Given the description of an element on the screen output the (x, y) to click on. 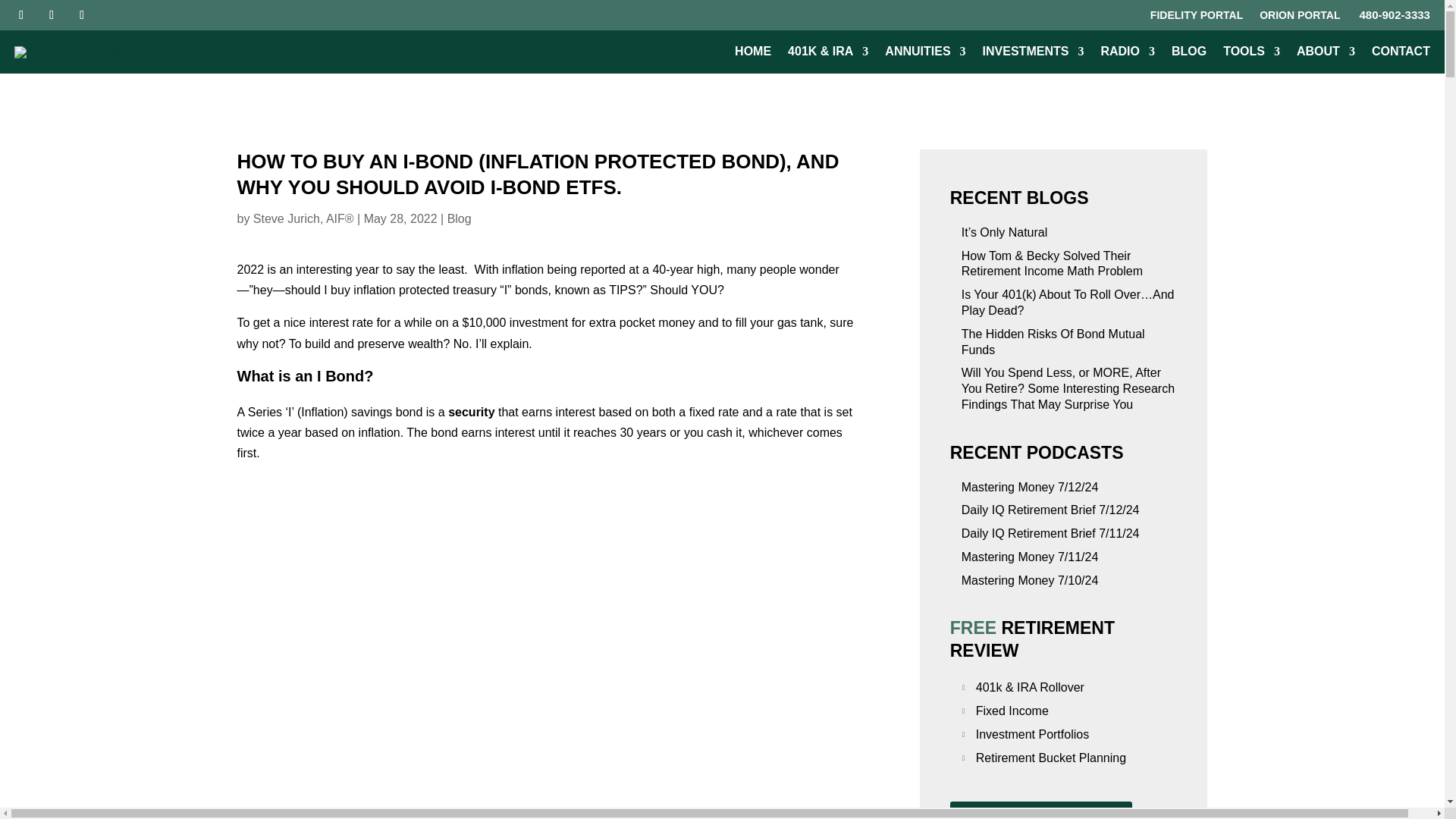
Follow on Instagram (81, 15)
480-902-3333 (1392, 14)
RADIO (1127, 55)
ORION PORTAL (1299, 17)
ANNUITIES (925, 55)
FIDELITY PORTAL (1196, 17)
BLOG (1189, 55)
TOOLS (1251, 55)
Follow on Facebook (20, 15)
HOME (753, 55)
Follow on X (51, 15)
INVESTMENTS (1033, 55)
ABOUT (1326, 55)
